Given the description of an element on the screen output the (x, y) to click on. 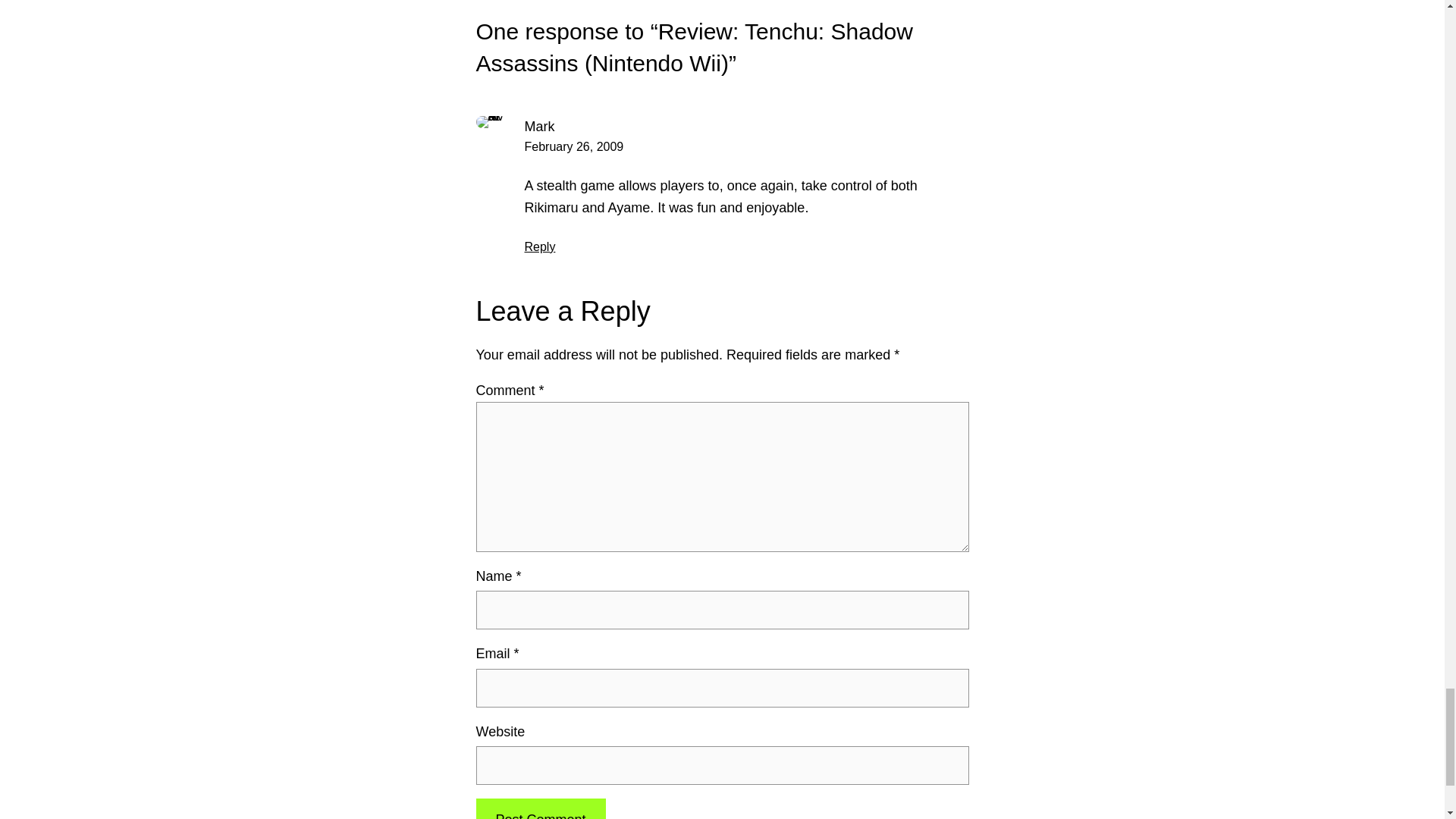
Reply (540, 245)
Post Comment (540, 808)
Mark (539, 126)
February 26, 2009 (574, 146)
Post Comment (540, 808)
